Given the description of an element on the screen output the (x, y) to click on. 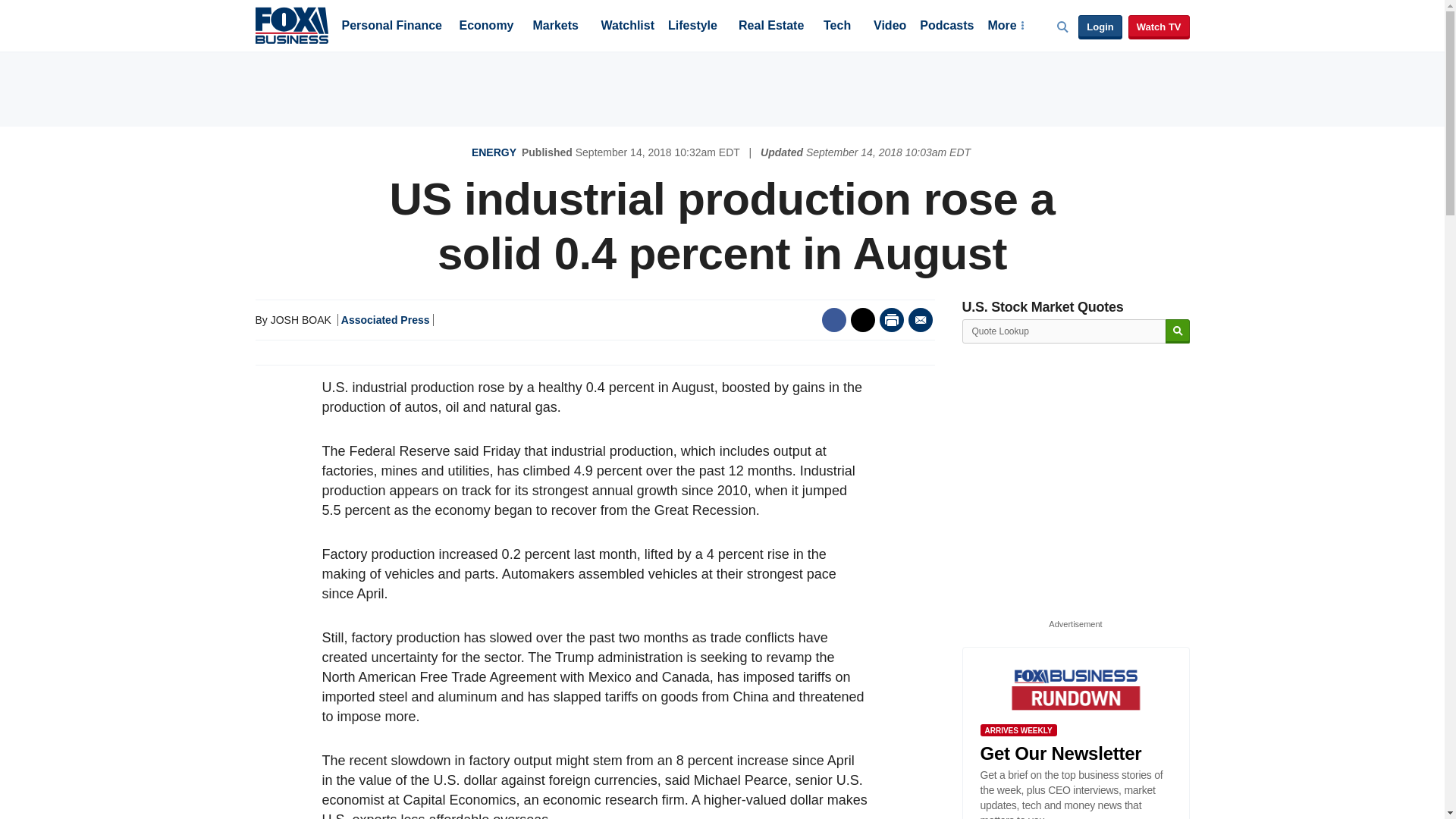
More (1005, 27)
Search (1176, 331)
Economy (486, 27)
Fox Business (290, 24)
Watchlist (626, 27)
Watch TV (1158, 27)
Search (1176, 331)
Markets (555, 27)
Personal Finance (391, 27)
Tech (837, 27)
